Given the description of an element on the screen output the (x, y) to click on. 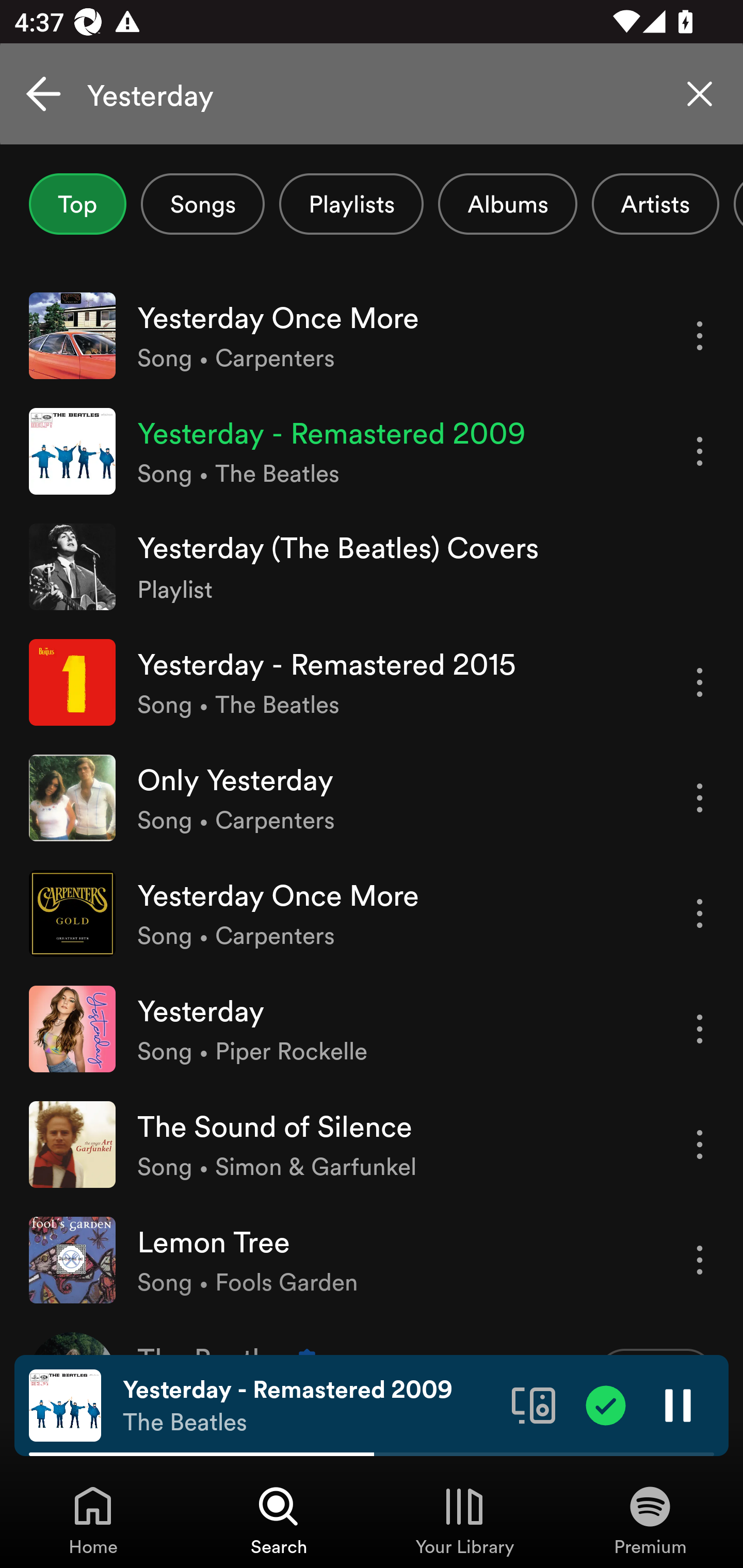
Yesterday (371, 93)
Cancel (43, 93)
Clear search query (699, 93)
Top (77, 203)
Songs (202, 203)
Playlists (351, 203)
Albums (507, 203)
Artists (655, 203)
More options for song Yesterday Once More (699, 336)
More options for song Yesterday - Remastered 2009 (699, 450)
Yesterday (The Beatles) Covers Playlist (371, 566)
More options for song Yesterday - Remastered 2015 (699, 682)
More options for song Only Yesterday (699, 798)
More options for song Yesterday Once More (699, 913)
More options for song Yesterday (699, 1029)
More options for song The Sound of Silence (699, 1144)
More options for song Lemon Tree (699, 1259)
Yesterday - Remastered 2009 The Beatles (309, 1405)
The cover art of the currently playing track (64, 1404)
Connect to a device. Opens the devices menu (533, 1404)
Item added (605, 1404)
Pause (677, 1404)
Home, Tab 1 of 4 Home Home (92, 1519)
Search, Tab 2 of 4 Search Search (278, 1519)
Your Library, Tab 3 of 4 Your Library Your Library (464, 1519)
Premium, Tab 4 of 4 Premium Premium (650, 1519)
